Given the description of an element on the screen output the (x, y) to click on. 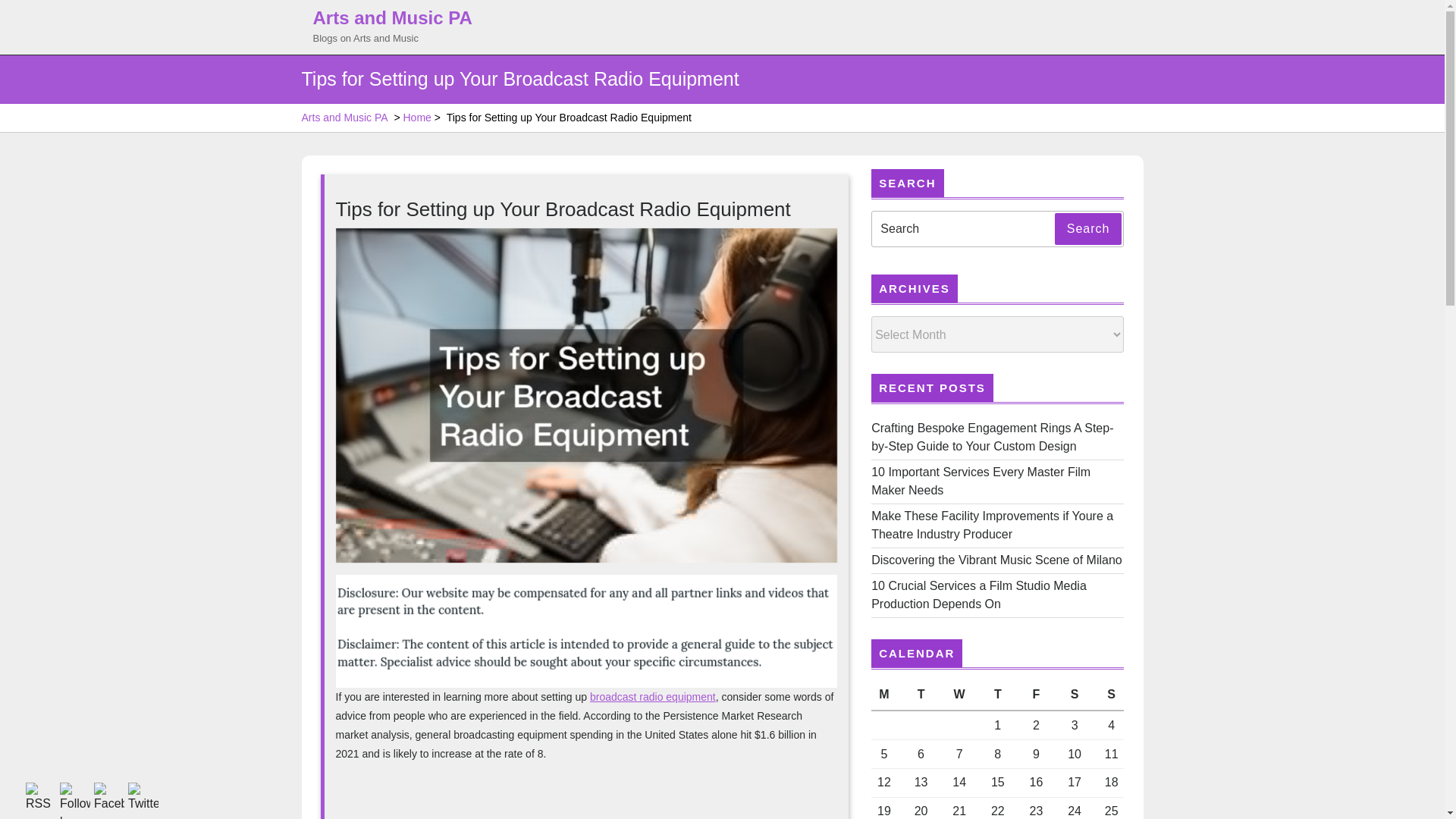
Search (1088, 228)
Arts and Music PA (344, 117)
Thursday (997, 695)
RSS (41, 797)
Wednesday (959, 695)
Home (416, 117)
Facebook (108, 797)
Sunday (1108, 695)
Tuesday (920, 695)
